Given the description of an element on the screen output the (x, y) to click on. 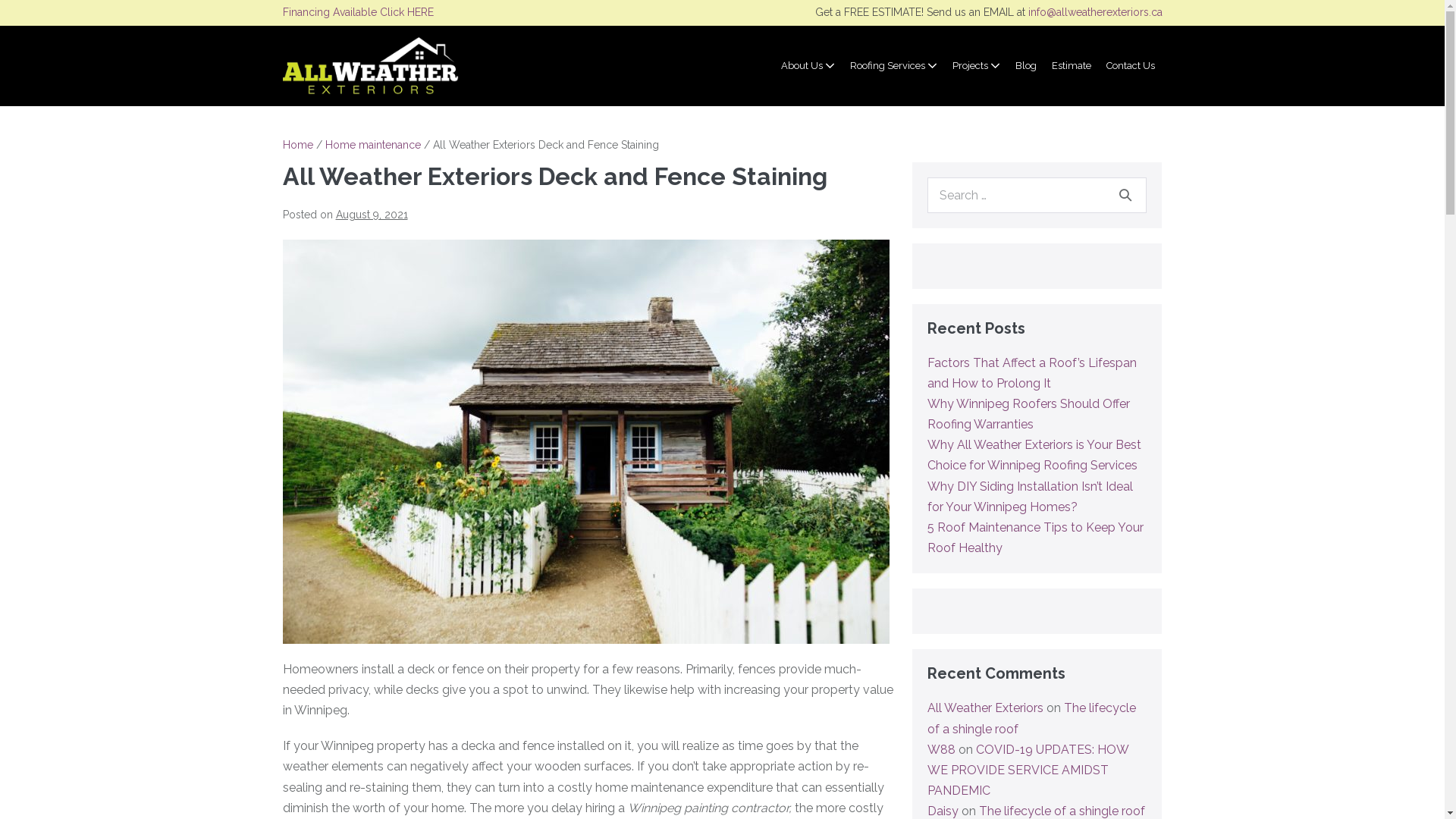
All Weather Exteriors Element type: text (985, 707)
Search Element type: text (1125, 194)
W88 Element type: text (941, 749)
The lifecycle of a shingle roof Element type: text (1031, 717)
Daisy Element type: text (942, 810)
Roofing Services Element type: text (892, 65)
Why Winnipeg Roofers Should Offer Roofing Warranties Element type: text (1028, 413)
Home maintenance Element type: text (372, 144)
The lifecycle of a shingle roof Element type: text (1062, 810)
Financing Available Click HERE Element type: text (357, 12)
5 Roof Maintenance Tips to Keep Your Roof Healthy Element type: text (1035, 537)
COVID-19 UPDATES: HOW WE PROVIDE SERVICE AMIDST PANDEMIC Element type: text (1027, 769)
Home Element type: text (297, 144)
Contact Us Element type: text (1129, 65)
About Us Element type: text (807, 65)
Press enter to search Element type: hover (1036, 195)
Estimate Element type: text (1070, 65)
Projects Element type: text (975, 65)
All Weather Exteriors Element type: hover (370, 65)
info@allweatherexteriors.ca Element type: text (1095, 12)
Blog Element type: text (1025, 65)
